Given the description of an element on the screen output the (x, y) to click on. 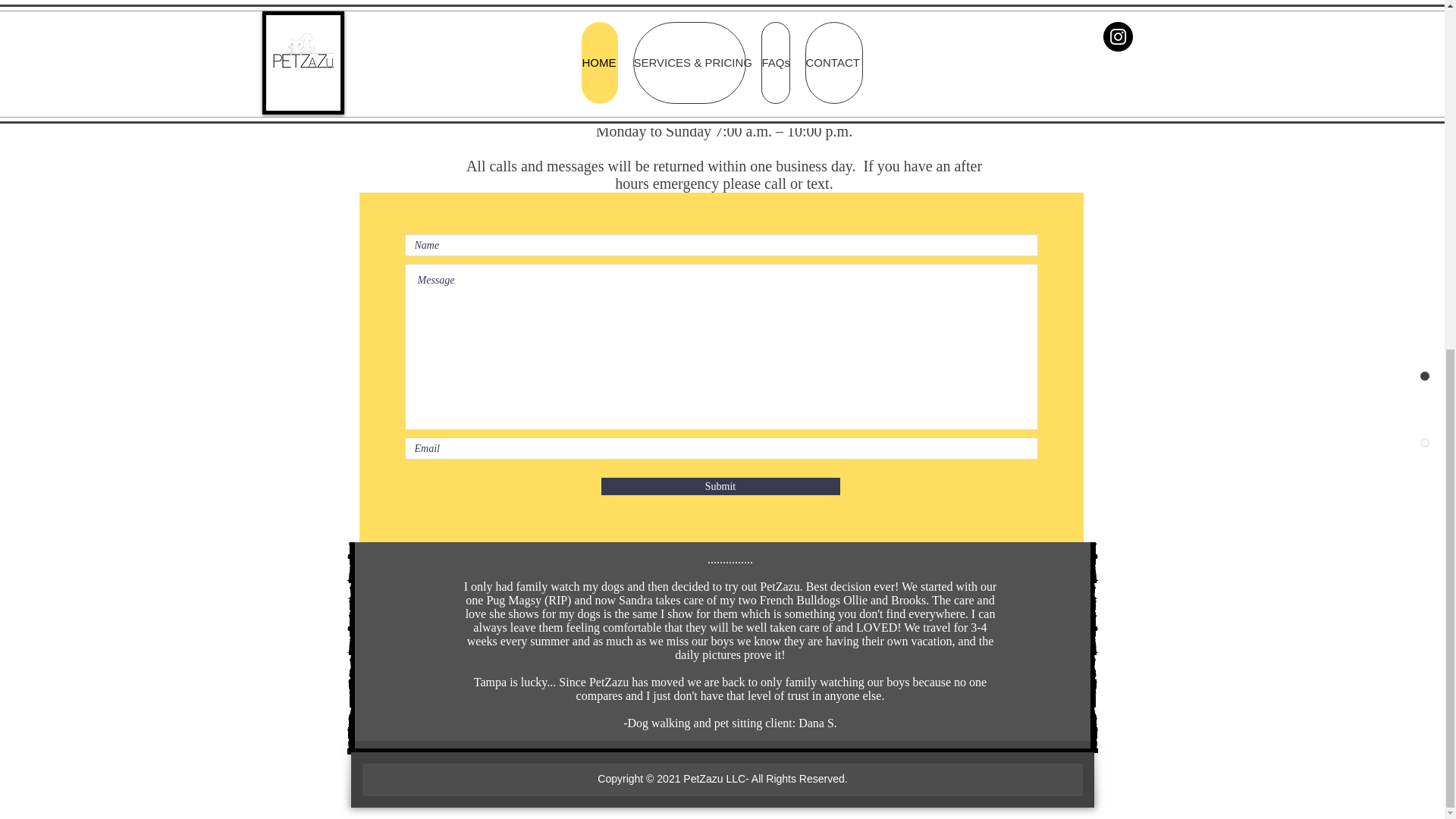
Submit (719, 486)
